Given the description of an element on the screen output the (x, y) to click on. 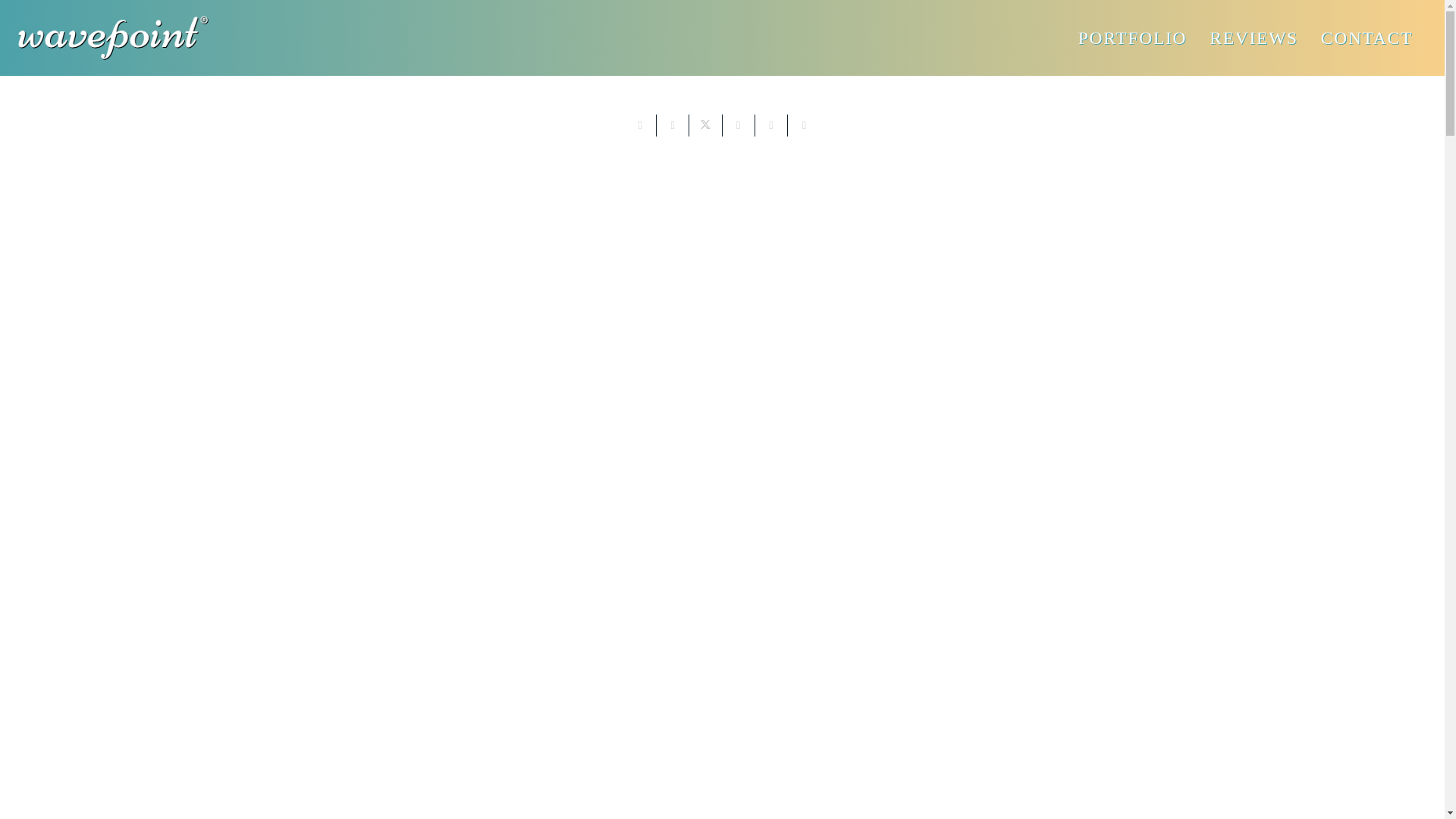
REVIEWS (1253, 38)
Share this (804, 125)
Share this (672, 125)
PORTFOLIO (1132, 38)
Tweet this (705, 125)
Pin this (771, 125)
CONTACT (1365, 38)
Email this (640, 125)
Share this (738, 125)
